Given the description of an element on the screen output the (x, y) to click on. 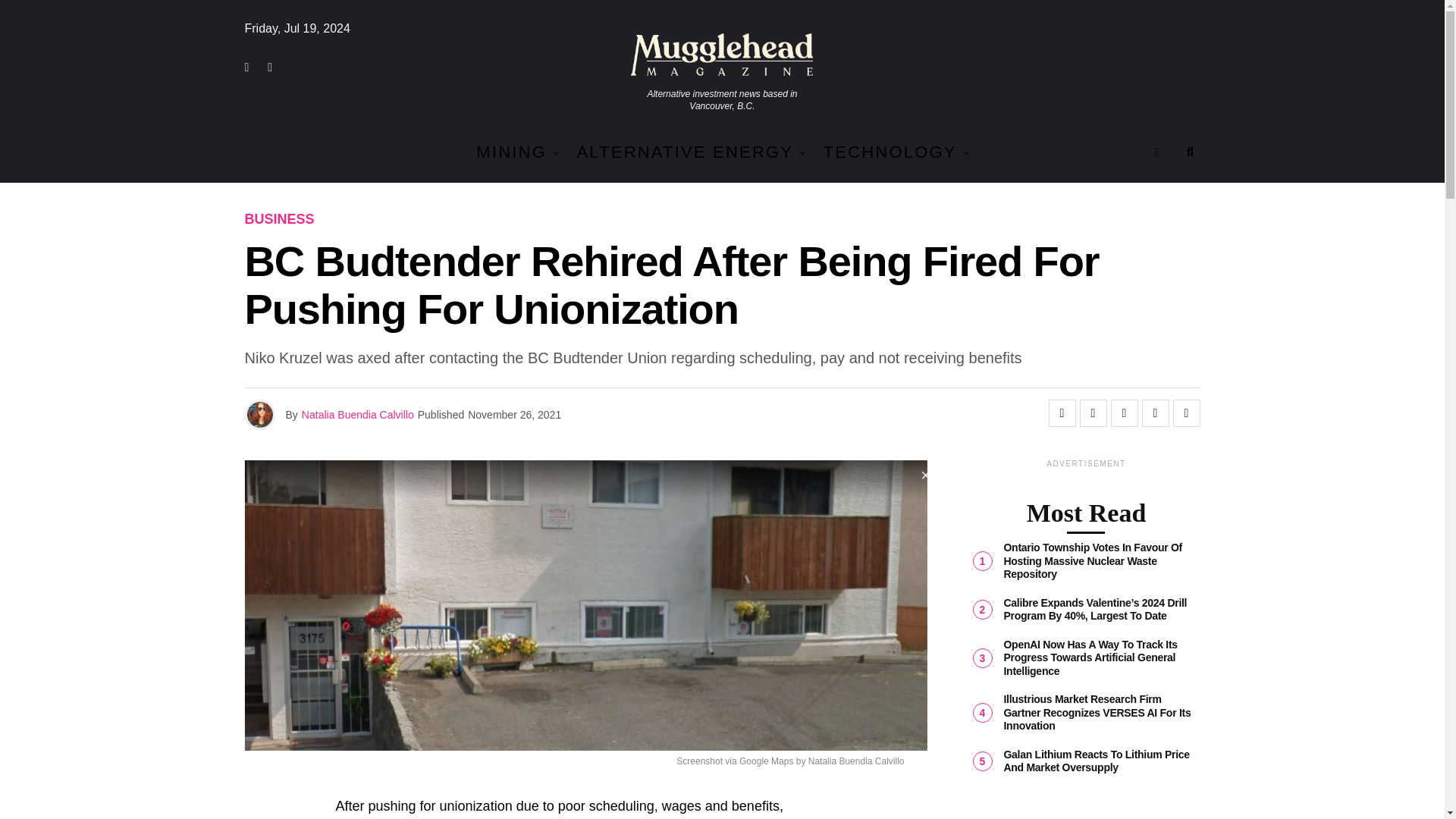
MINING (511, 152)
Posts by Natalia Buendia Calvillo (357, 414)
Share on Flipboard (1123, 412)
ALTERNATIVE ENERGY (684, 152)
Tweet This Post (1093, 412)
Share on Facebook (1061, 412)
